Given the description of an element on the screen output the (x, y) to click on. 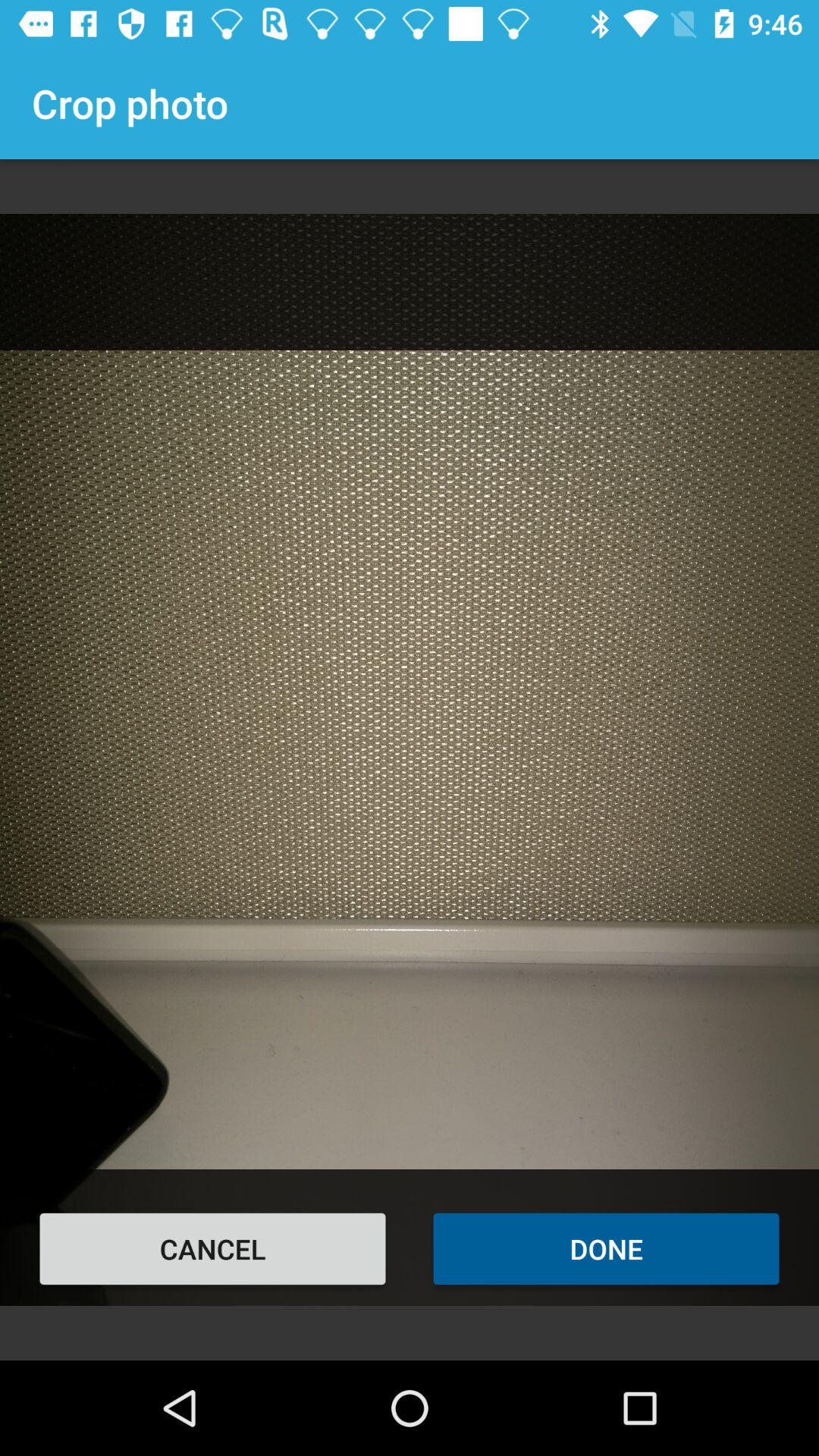
tap icon next to the done icon (212, 1248)
